Given the description of an element on the screen output the (x, y) to click on. 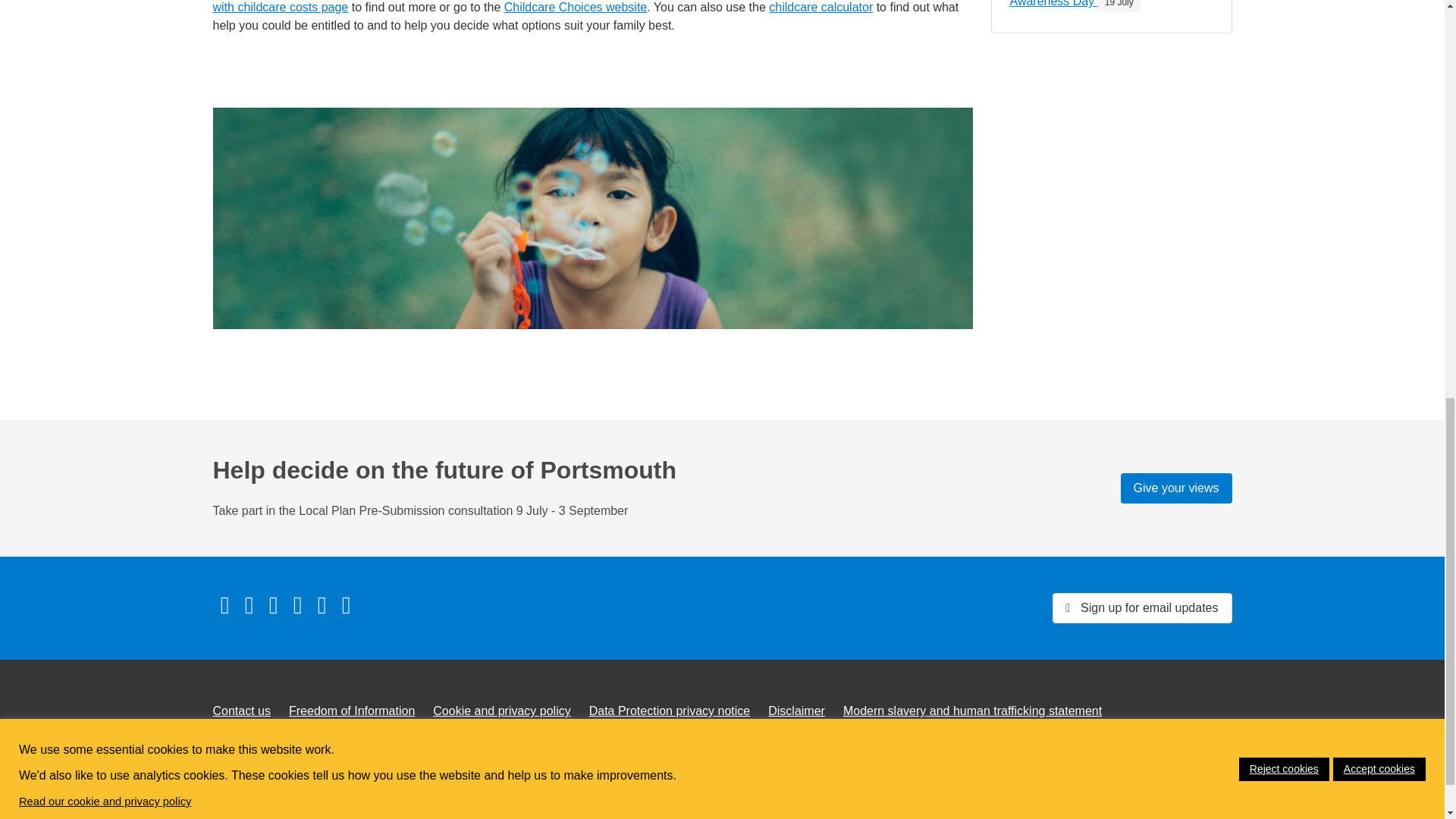
Help with childcare costs (581, 6)
Childcare Choices website (575, 6)
Sign up for email updates (1141, 607)
help with childcare costs page (581, 6)
Twitter (247, 605)
LinkedIn (272, 605)
Instagram (345, 605)
Give your views (1176, 488)
Vimeo (296, 605)
childcare calculator (820, 6)
Facebook (223, 605)
YouTube (320, 605)
